Given the description of an element on the screen output the (x, y) to click on. 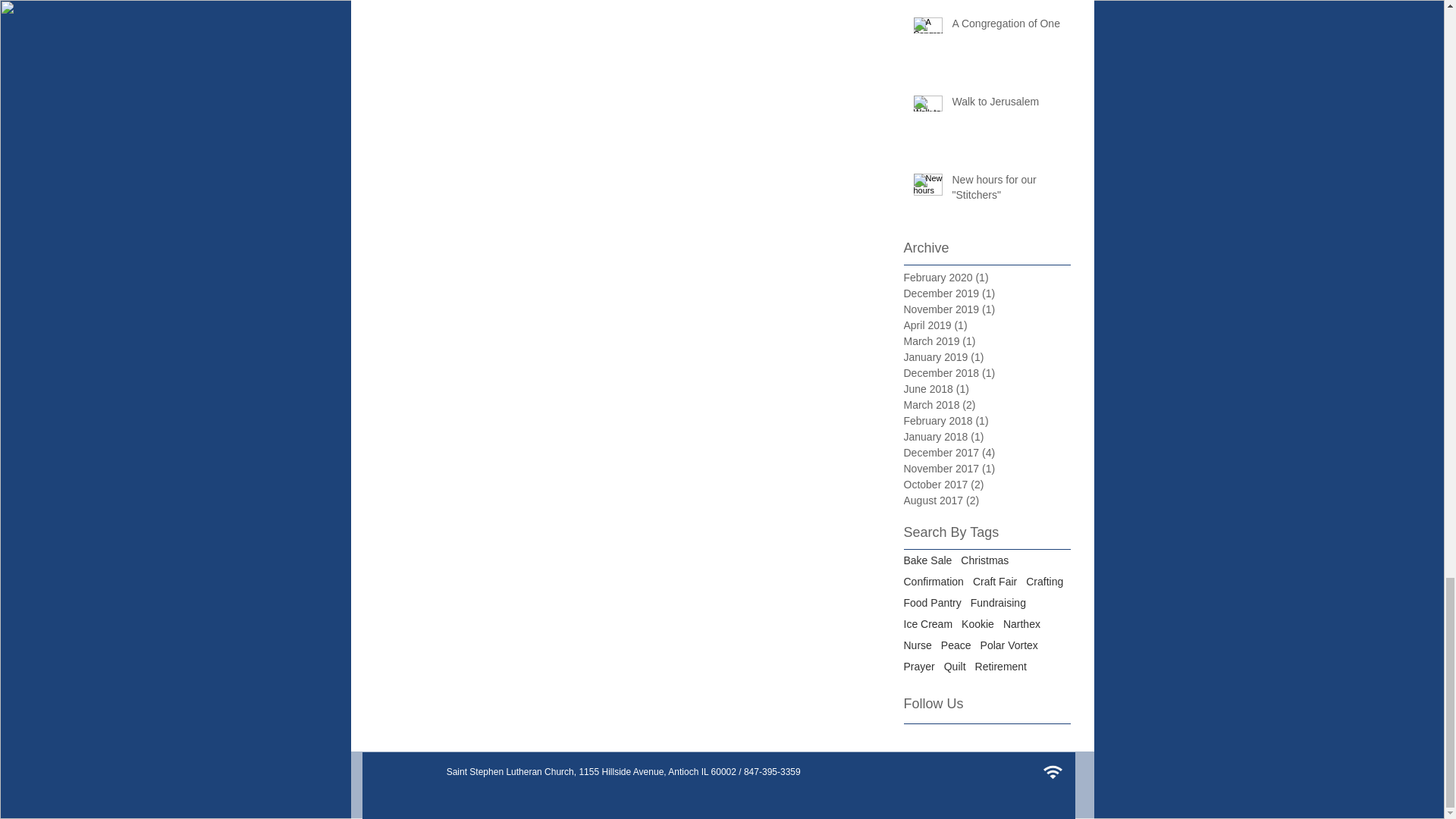
New hours for our "Stitchers" (1006, 190)
A Congregation of One (1006, 26)
Walk to Jerusalem (1006, 105)
